Given the description of an element on the screen output the (x, y) to click on. 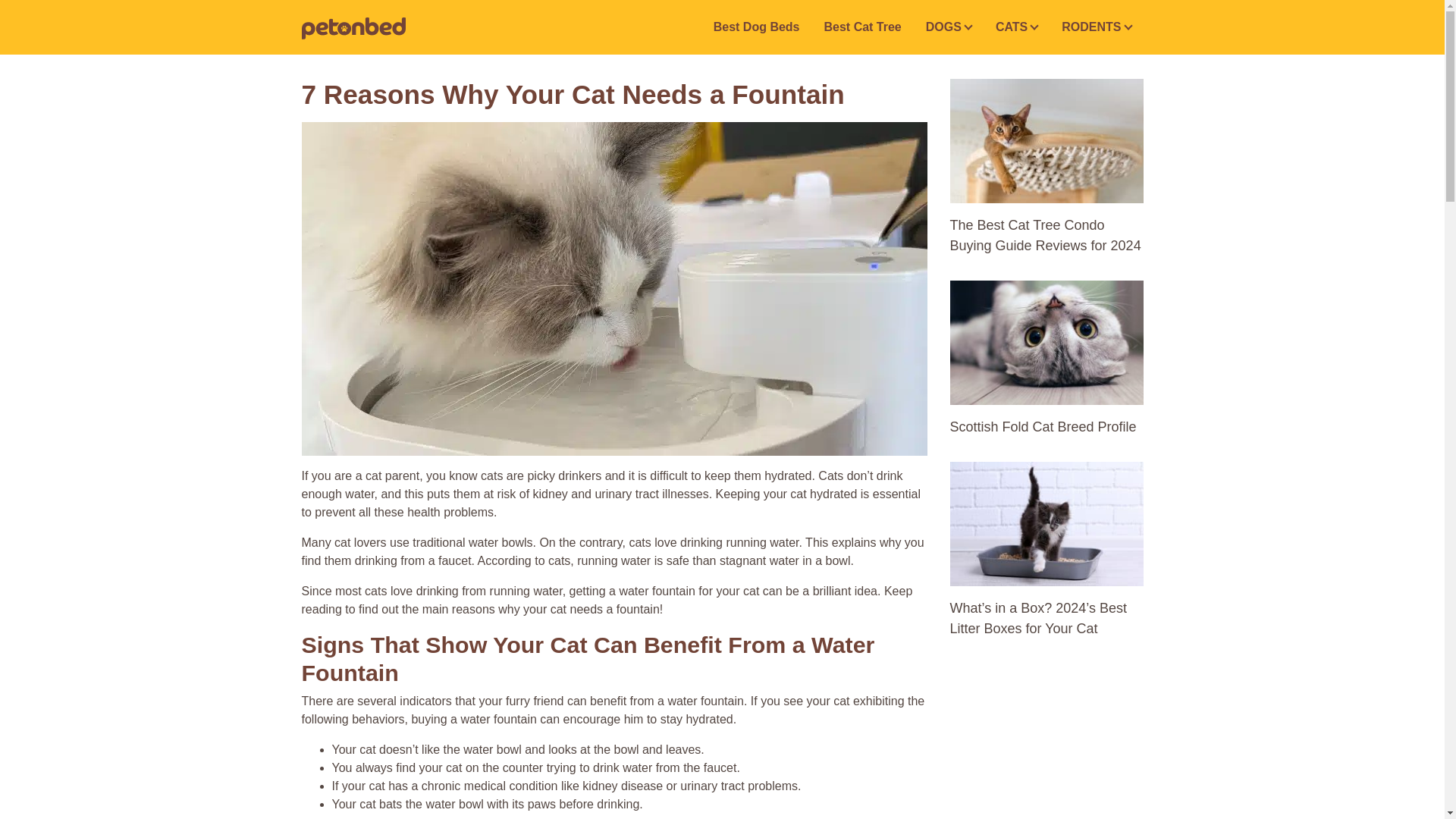
DOGS (949, 27)
RODENTS (1095, 27)
CATS (1016, 27)
Best Dog Beds (756, 27)
Best Cat Tree (861, 27)
